Given the description of an element on the screen output the (x, y) to click on. 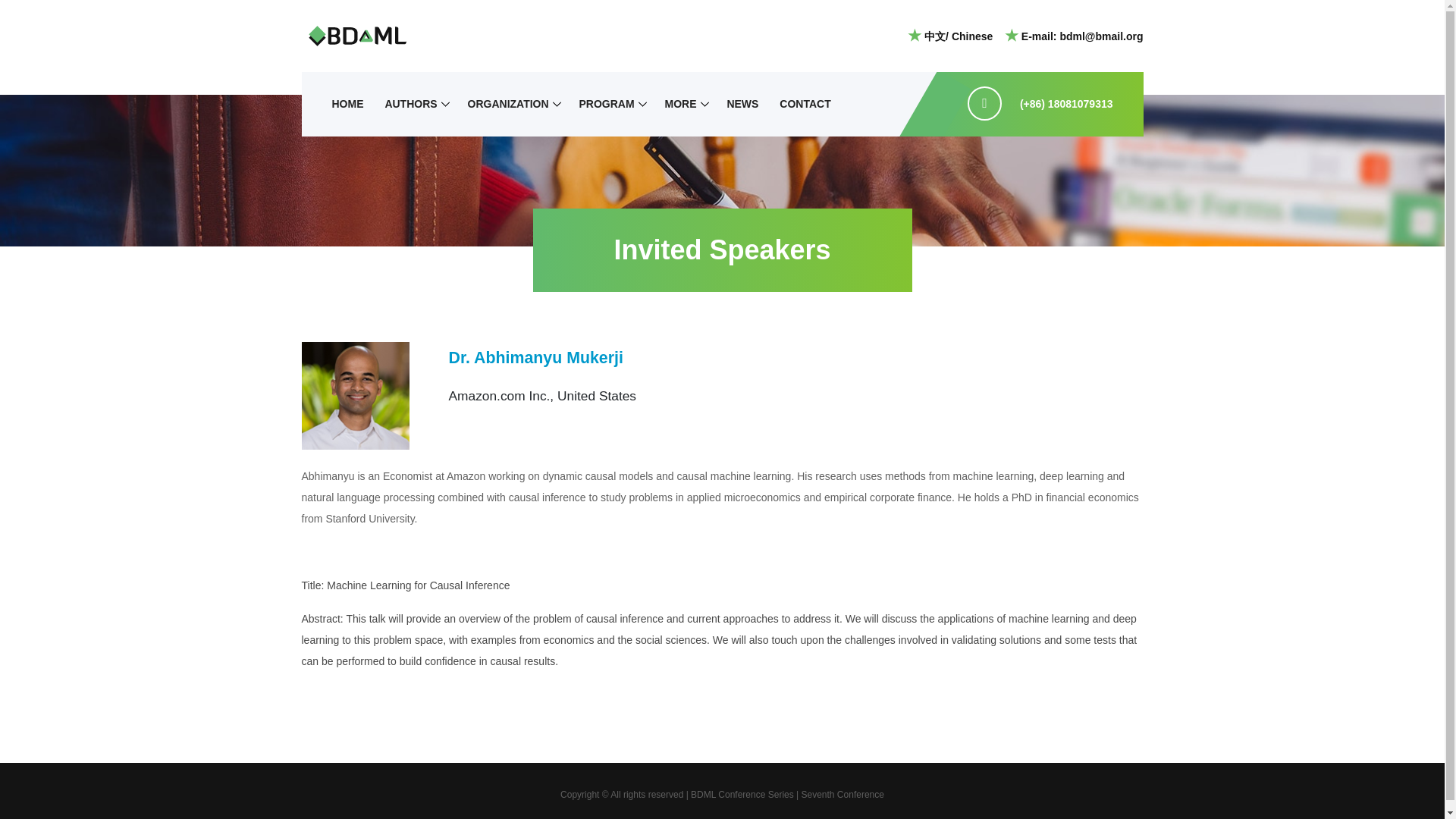
PROGRAM (606, 103)
HOME (347, 103)
CONTACT (805, 103)
MORE (679, 103)
NEWS (742, 103)
AUTHORS (410, 103)
ORGANIZATION (507, 103)
